Given the description of an element on the screen output the (x, y) to click on. 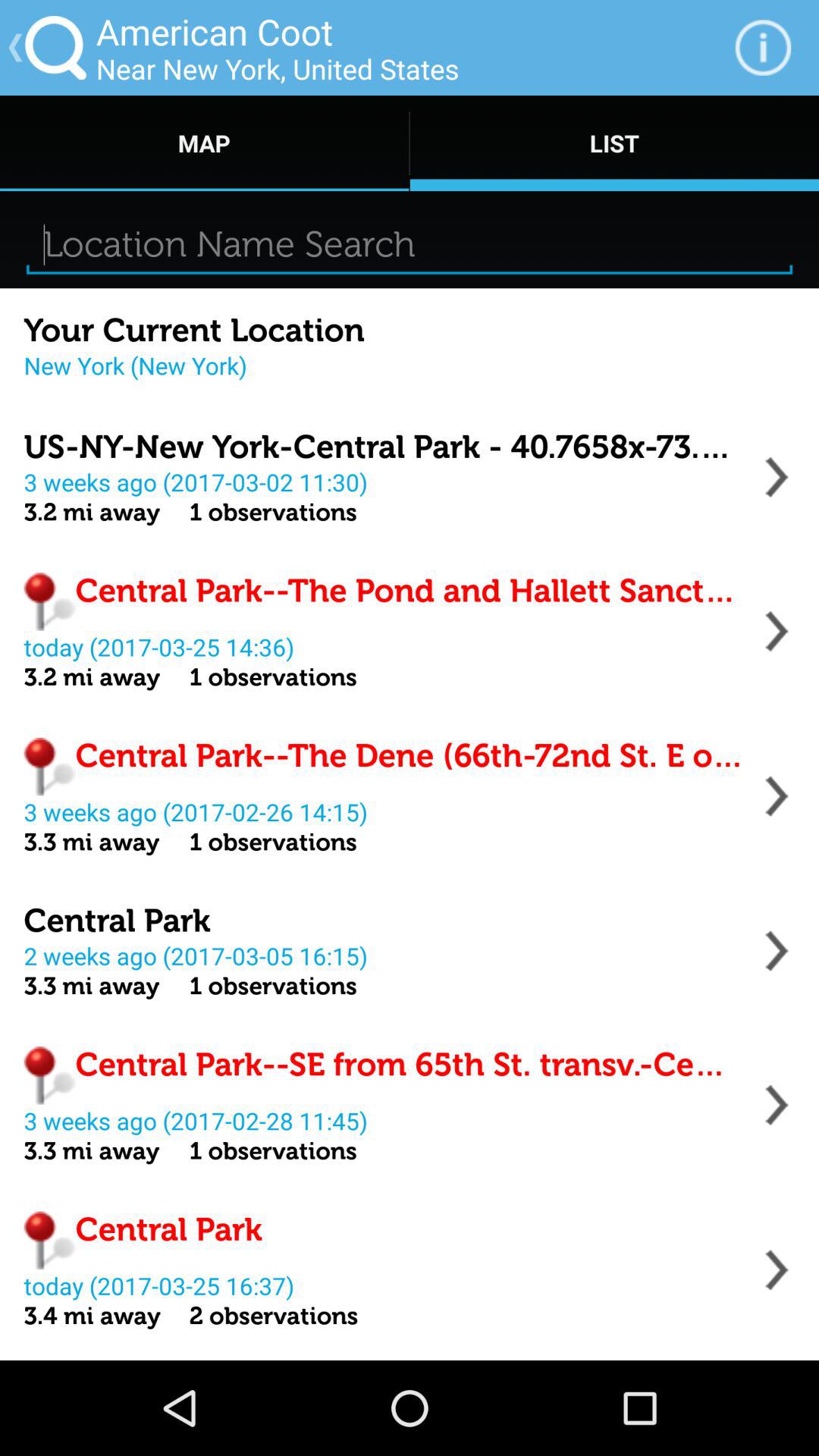
location search box (409, 244)
